Given the description of an element on the screen output the (x, y) to click on. 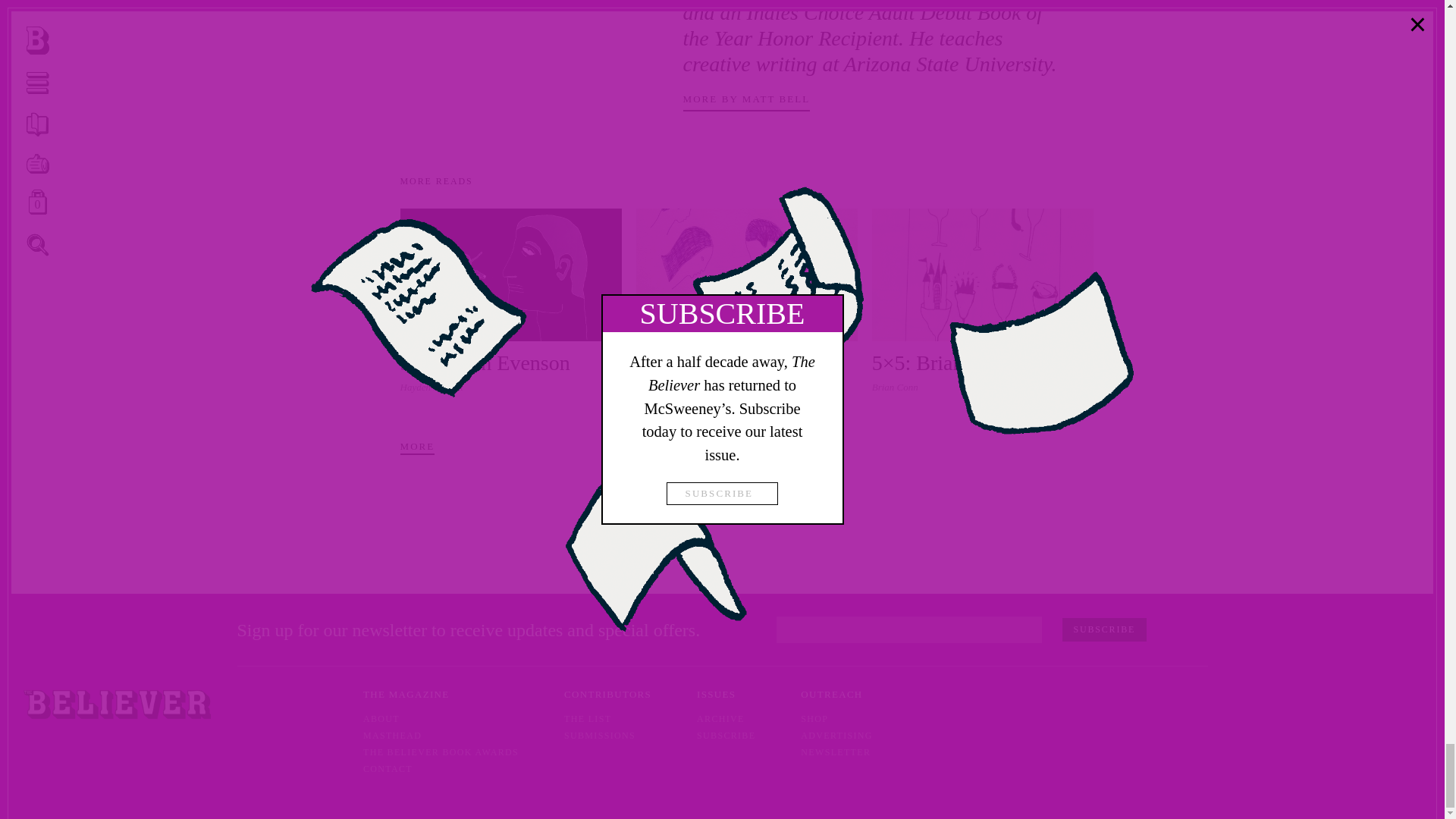
Subscribe (1104, 629)
